Given the description of an element on the screen output the (x, y) to click on. 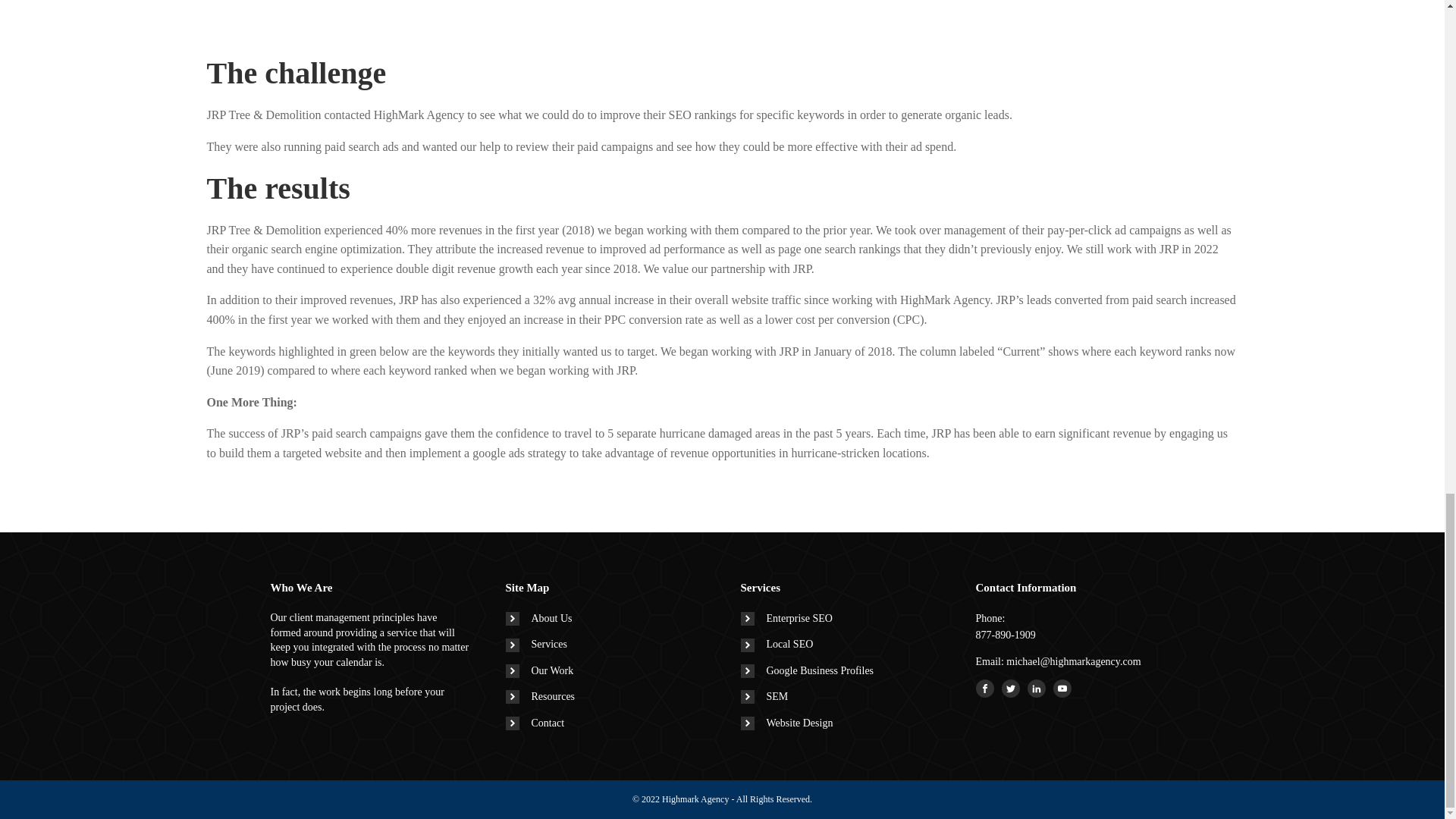
About Us (538, 618)
Contact (534, 723)
Our Work (539, 670)
Resources (540, 696)
Local SEO (775, 644)
Enterprise SEO (785, 618)
Services (535, 644)
SEM (763, 696)
Website Design (785, 723)
Google Business Profiles (806, 670)
